Given the description of an element on the screen output the (x, y) to click on. 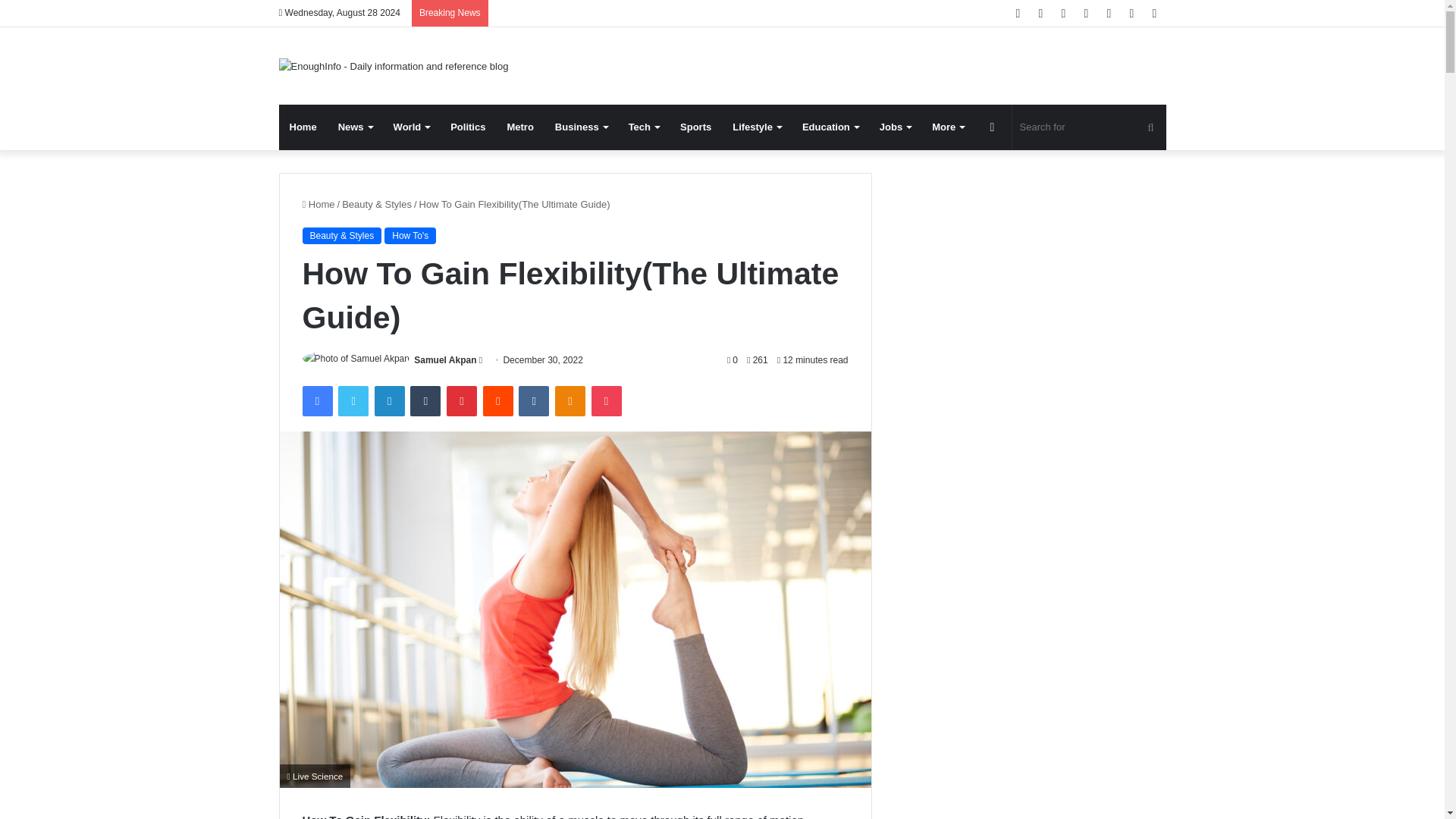
Samuel Akpan (444, 359)
News (354, 126)
Search for (1088, 126)
Business (580, 126)
LinkedIn (389, 400)
Metro (519, 126)
Tech (643, 126)
World (411, 126)
Twitter (352, 400)
VKontakte (533, 400)
